Given the description of an element on the screen output the (x, y) to click on. 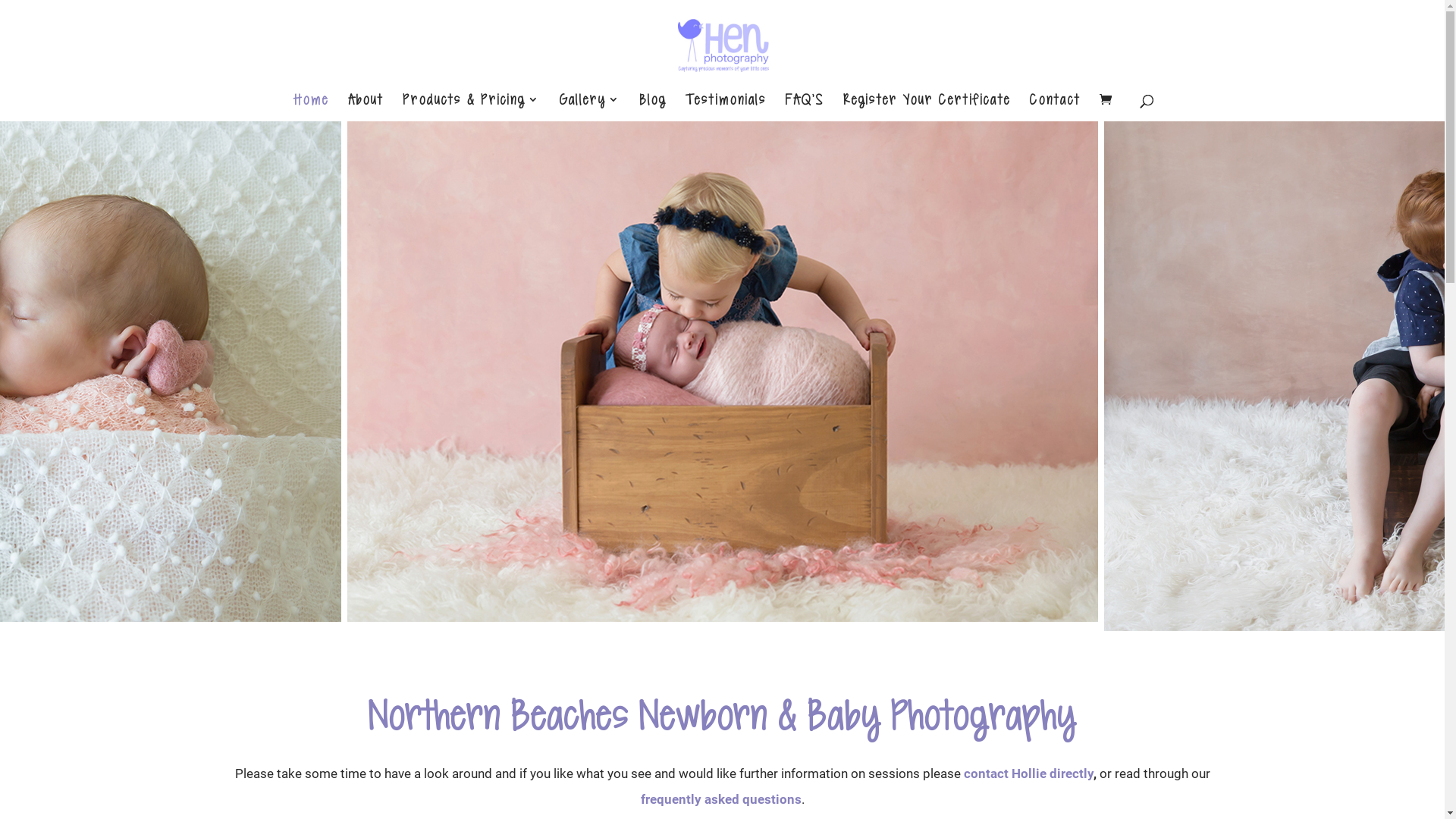
Gallery Element type: text (590, 107)
contact Hollie directly Element type: text (1027, 773)
Register Your Certificate Element type: text (926, 107)
frequently asked questions Element type: text (720, 798)
Testimonials Element type: text (725, 107)
Home Element type: text (310, 107)
Products & Pricing Element type: text (470, 107)
Contact Element type: text (1054, 107)
About Element type: text (364, 107)
Blog Element type: text (653, 107)
